Given the description of an element on the screen output the (x, y) to click on. 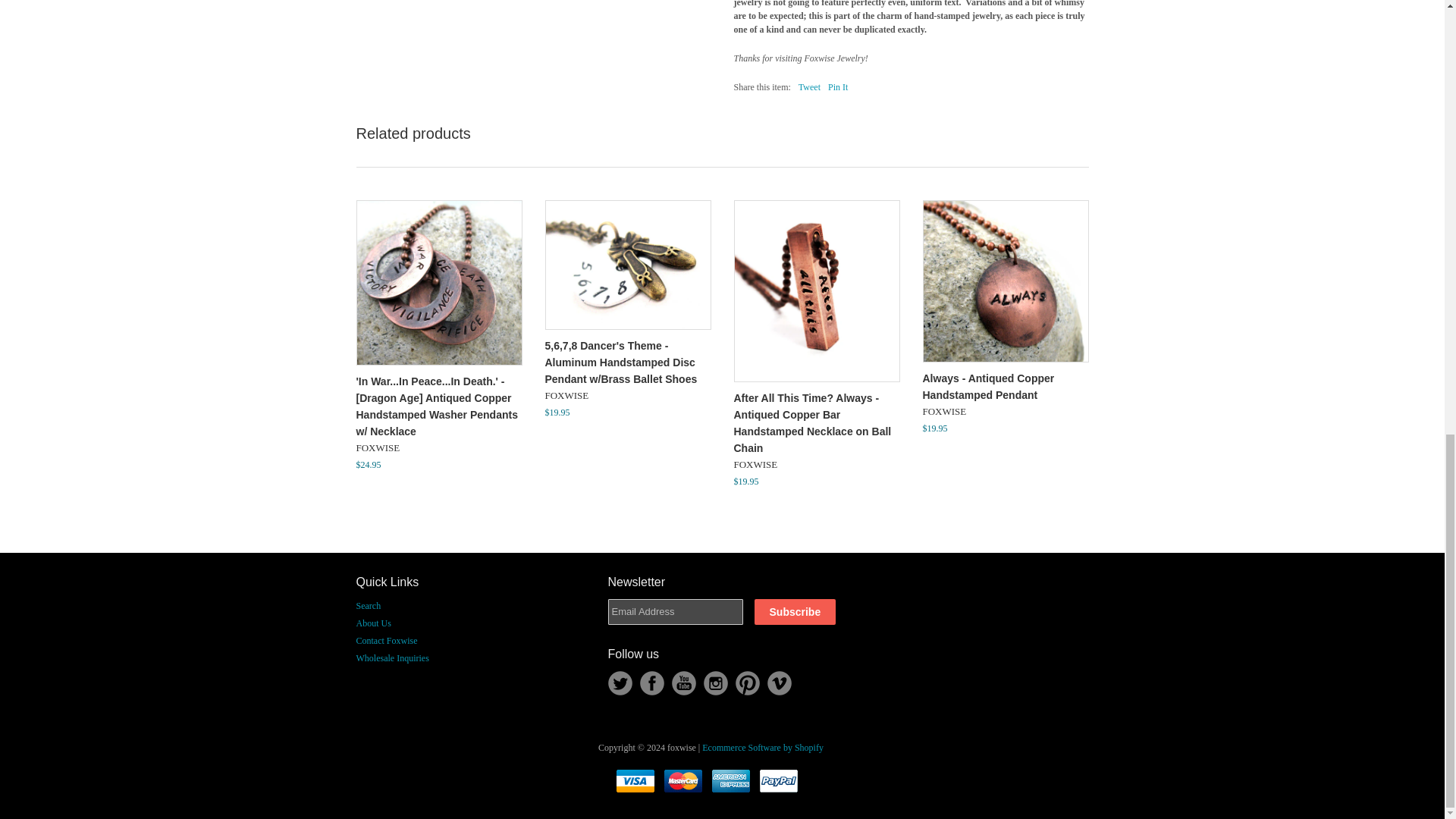
Subscribe (794, 611)
foxwise on Pinterest (747, 682)
foxwise on Instagram (715, 682)
foxwise on Twitter (619, 682)
foxwise on Facebook (651, 682)
Wholesale Inquiries (392, 657)
foxwise on YouTube (683, 682)
foxwise on Vimeo (779, 682)
Contact Foxwise (386, 640)
About Us (373, 623)
Search (368, 605)
